Given the description of an element on the screen output the (x, y) to click on. 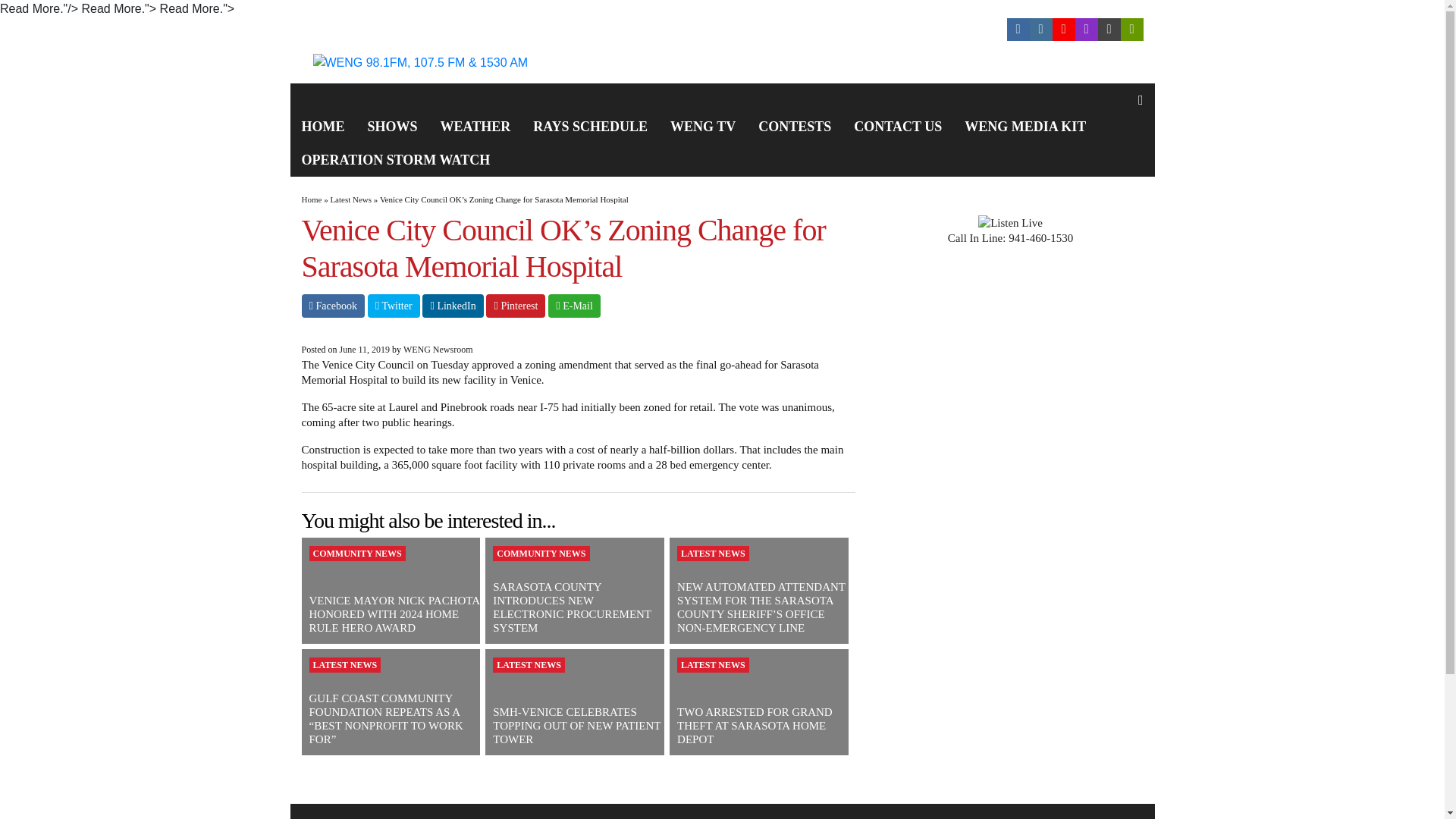
Share to Twitter (394, 305)
Share to LinkedIn (452, 305)
WENG MEDIA KIT (1025, 126)
CONTACT US (898, 126)
7:59 pm (364, 348)
CONTESTS (794, 126)
RAYS SCHEDULE (590, 126)
Advertise (557, 29)
Shop Local (492, 29)
SHOWS (392, 126)
Share to E-Mail (573, 305)
Listen Live (335, 29)
